Given the description of an element on the screen output the (x, y) to click on. 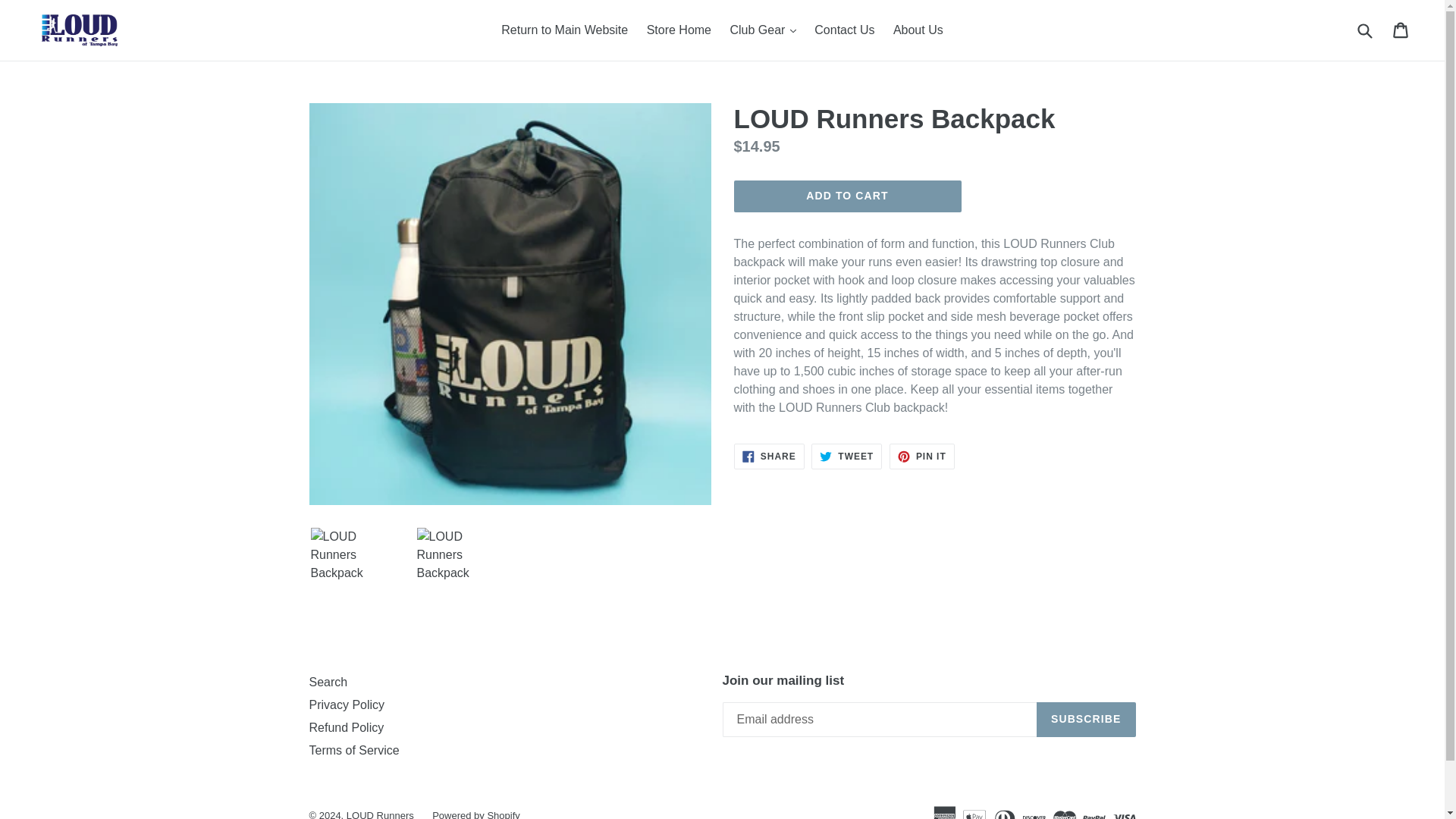
Submit (1364, 29)
Contact Us (844, 29)
Search (327, 681)
About Us (1401, 30)
Pin on Pinterest (917, 29)
Privacy Policy (922, 456)
ADD TO CART (346, 704)
Tweet on Twitter (846, 196)
Share on Facebook (846, 456)
Store Home (769, 456)
Return to Main Website (846, 456)
